Given the description of an element on the screen output the (x, y) to click on. 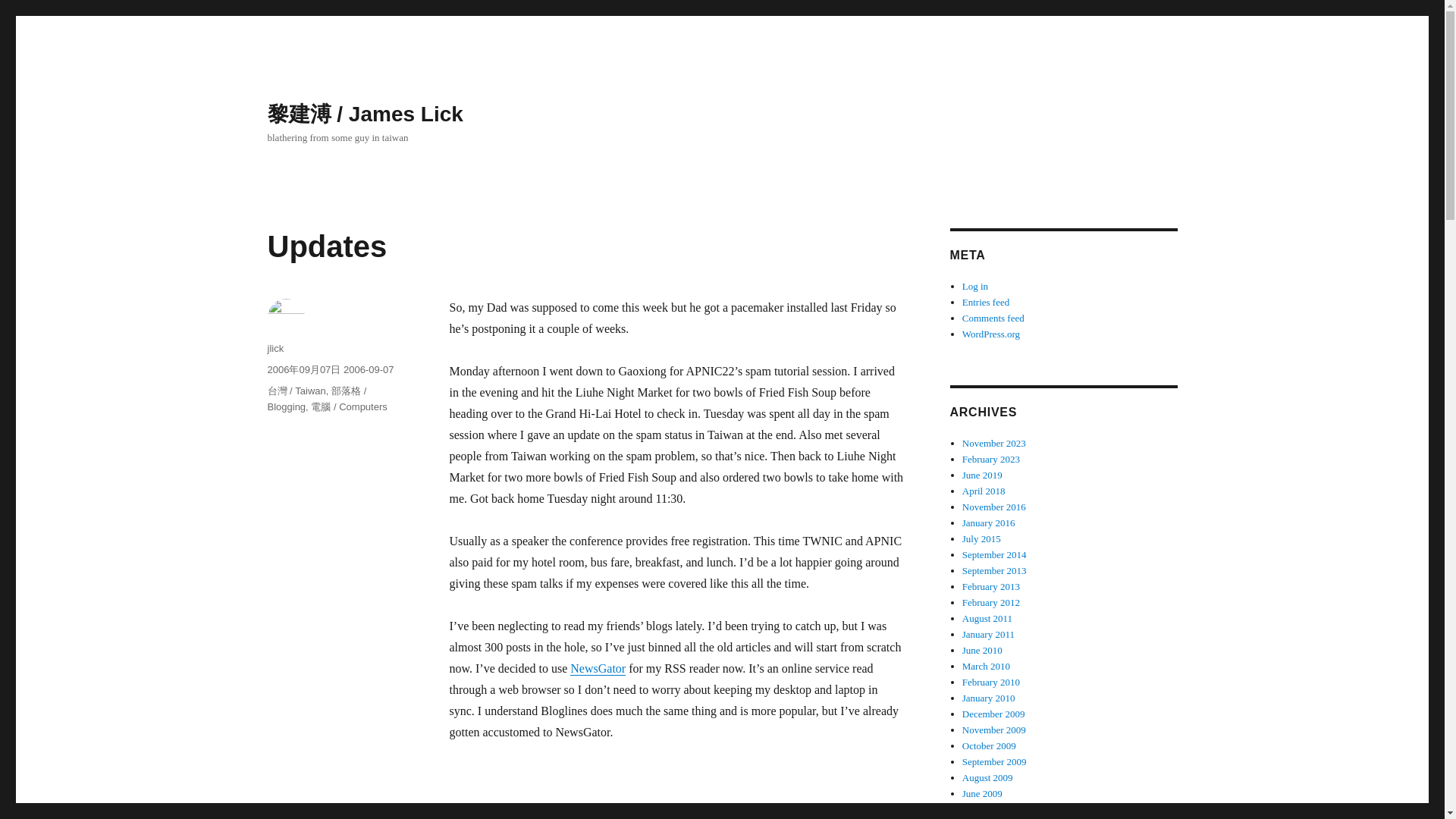
April 2018 (984, 490)
WordPress.org (991, 333)
November 2016 (994, 506)
September 2013 (994, 570)
January 2011 (988, 633)
November 2023 (994, 442)
February 2012 (991, 602)
Entries feed (985, 301)
February 2013 (991, 586)
June 2019 (982, 474)
September 2014 (994, 554)
January 2016 (988, 522)
February 2010 (991, 681)
March 2010 (986, 665)
August 2011 (986, 618)
